Given the description of an element on the screen output the (x, y) to click on. 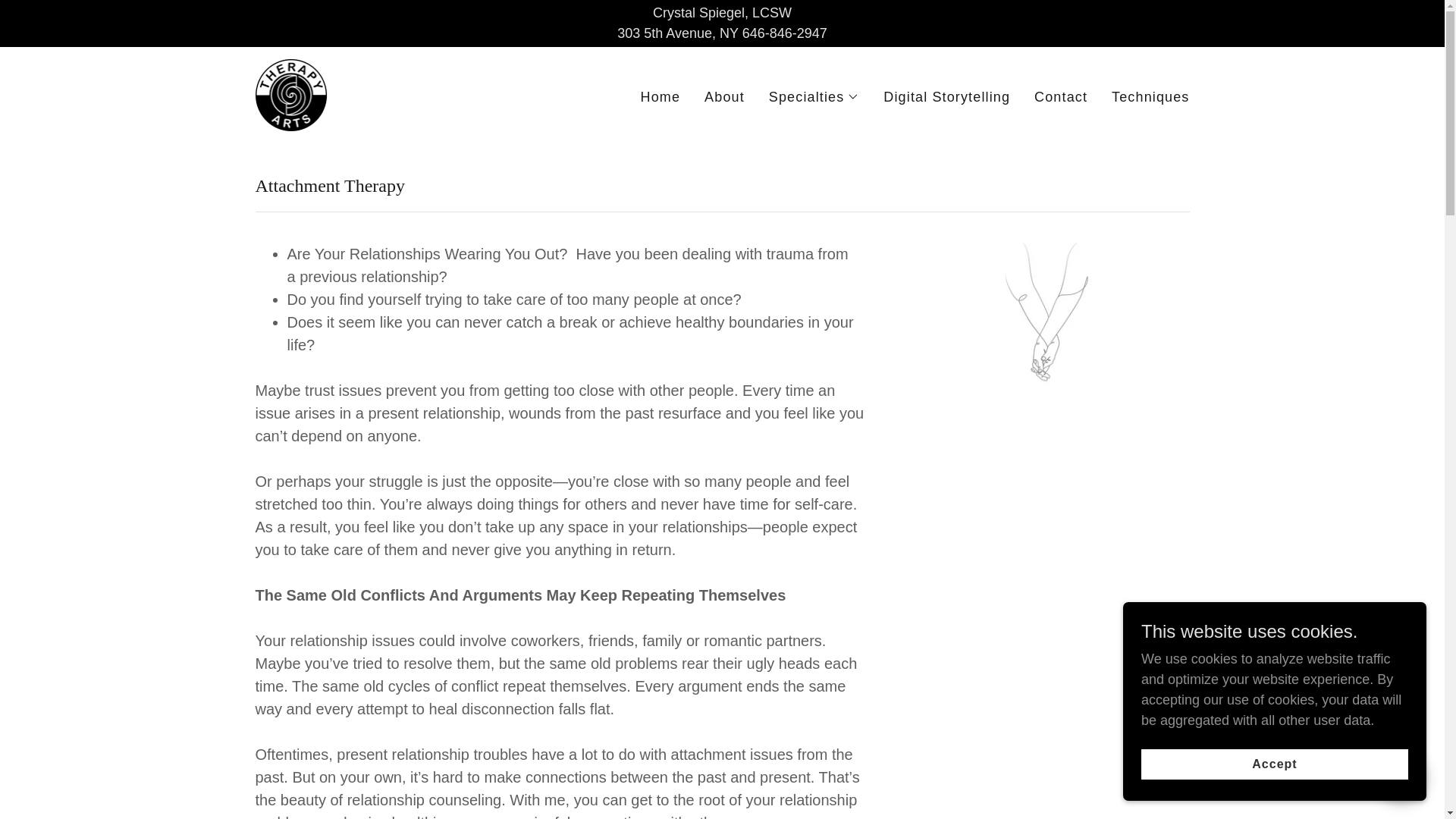
About (724, 96)
Therapy Arts (290, 93)
Contact (1060, 96)
Home (660, 96)
Digital Storytelling (946, 96)
Techniques (1149, 96)
Specialties (814, 96)
